Given the description of an element on the screen output the (x, y) to click on. 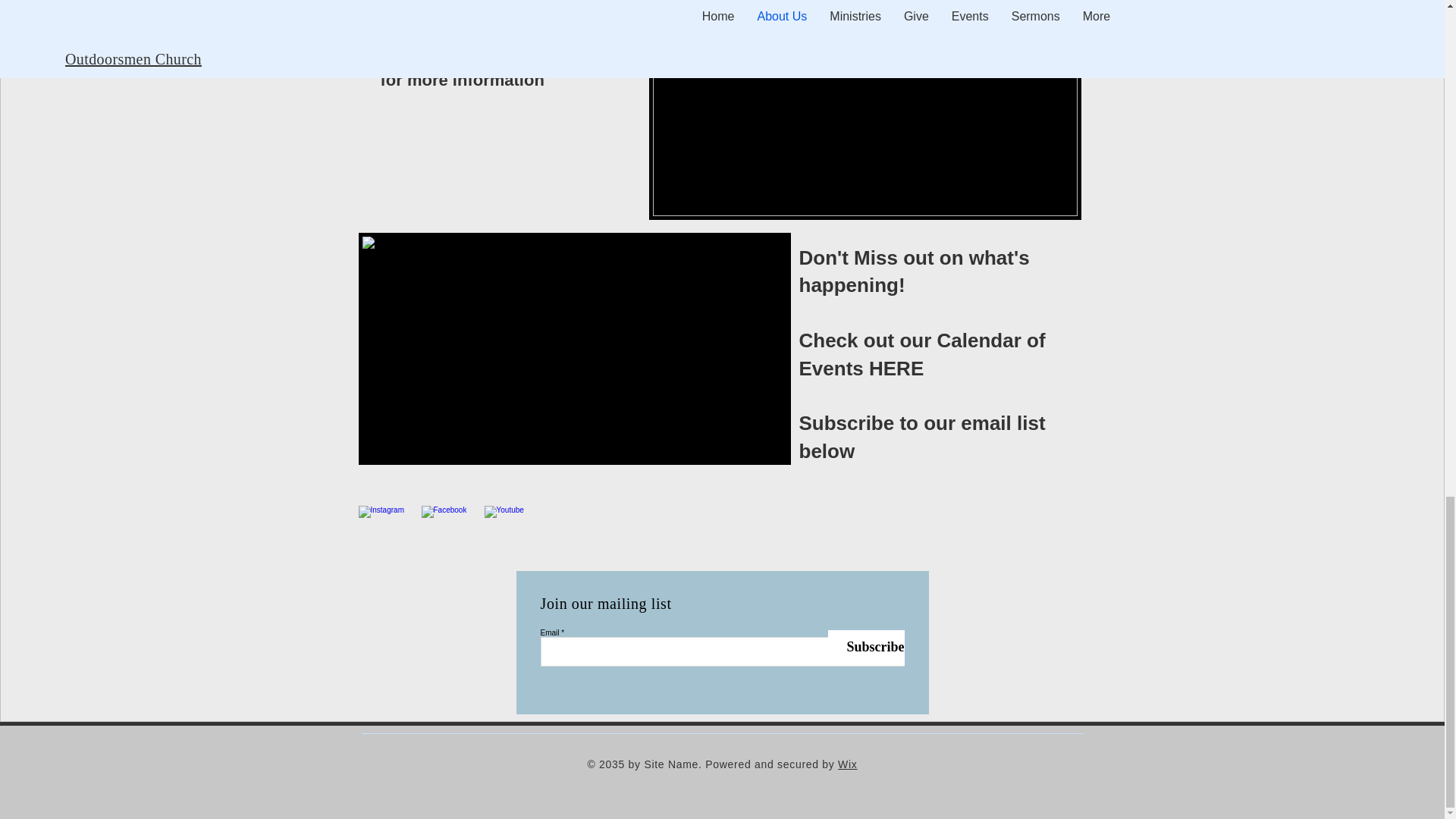
Group of Friends (865, 110)
Subscribe (866, 647)
Wix (847, 764)
